Given the description of an element on the screen output the (x, y) to click on. 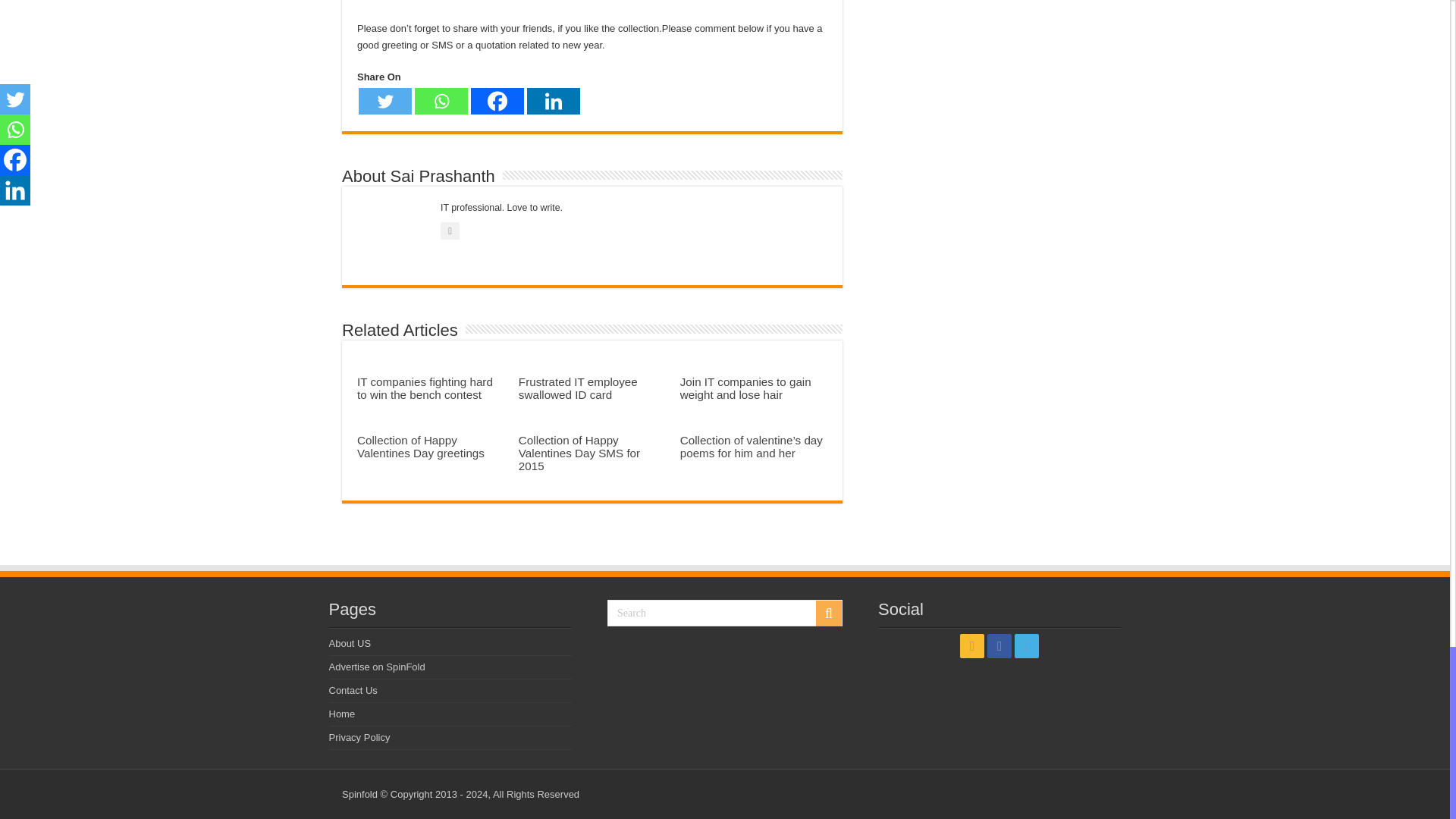
Twitter (385, 100)
Search (725, 612)
